Given the description of an element on the screen output the (x, y) to click on. 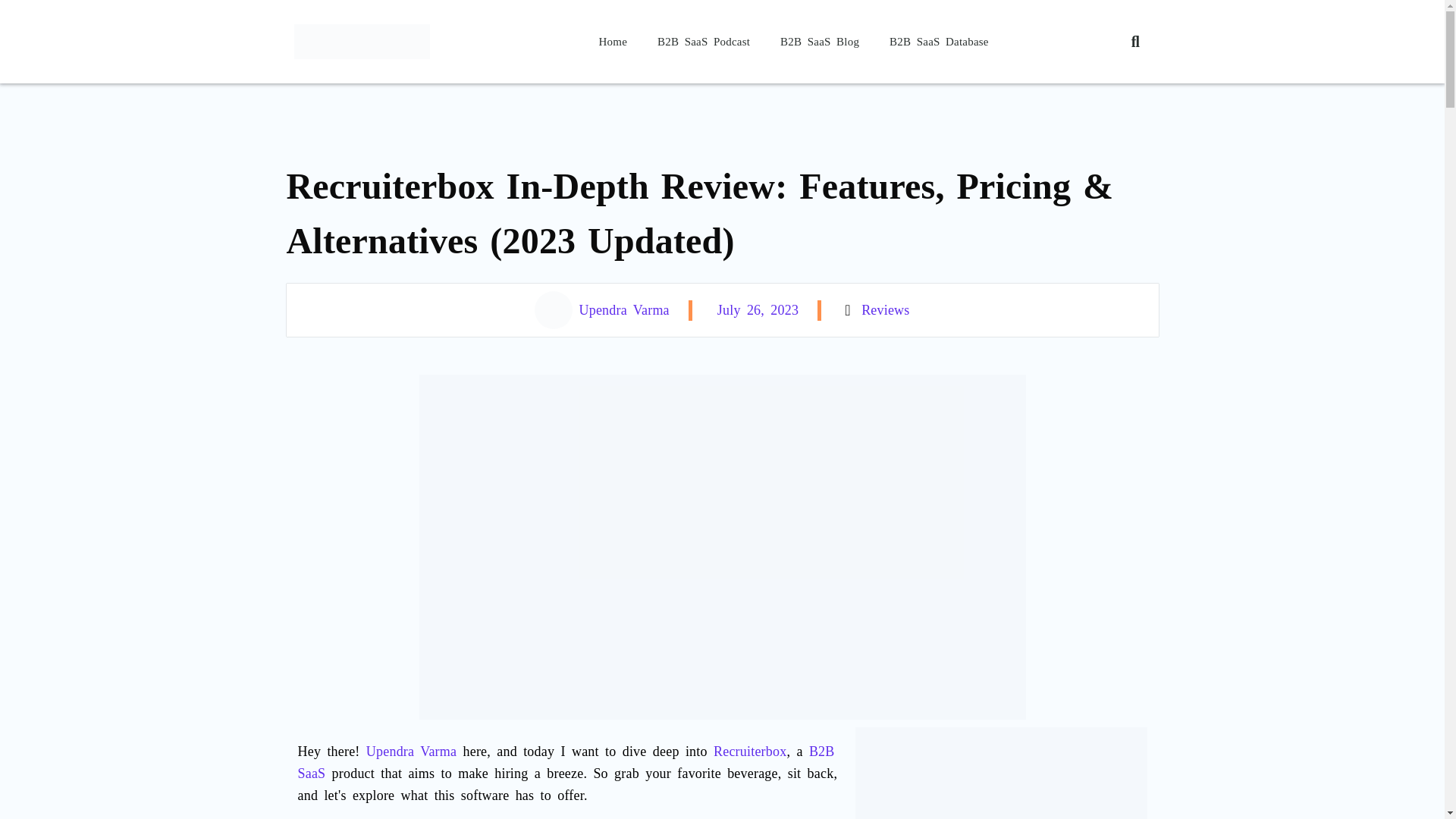
Upendra Varma (601, 310)
B2B SaaS (565, 762)
B2B SaaS Blog (820, 41)
B2B SaaS Database (939, 41)
B2B SaaS Podcast (703, 41)
July 26, 2023 (754, 309)
Reviews (884, 309)
Upendra Varma (411, 751)
Recruiterbox (749, 751)
